Given the description of an element on the screen output the (x, y) to click on. 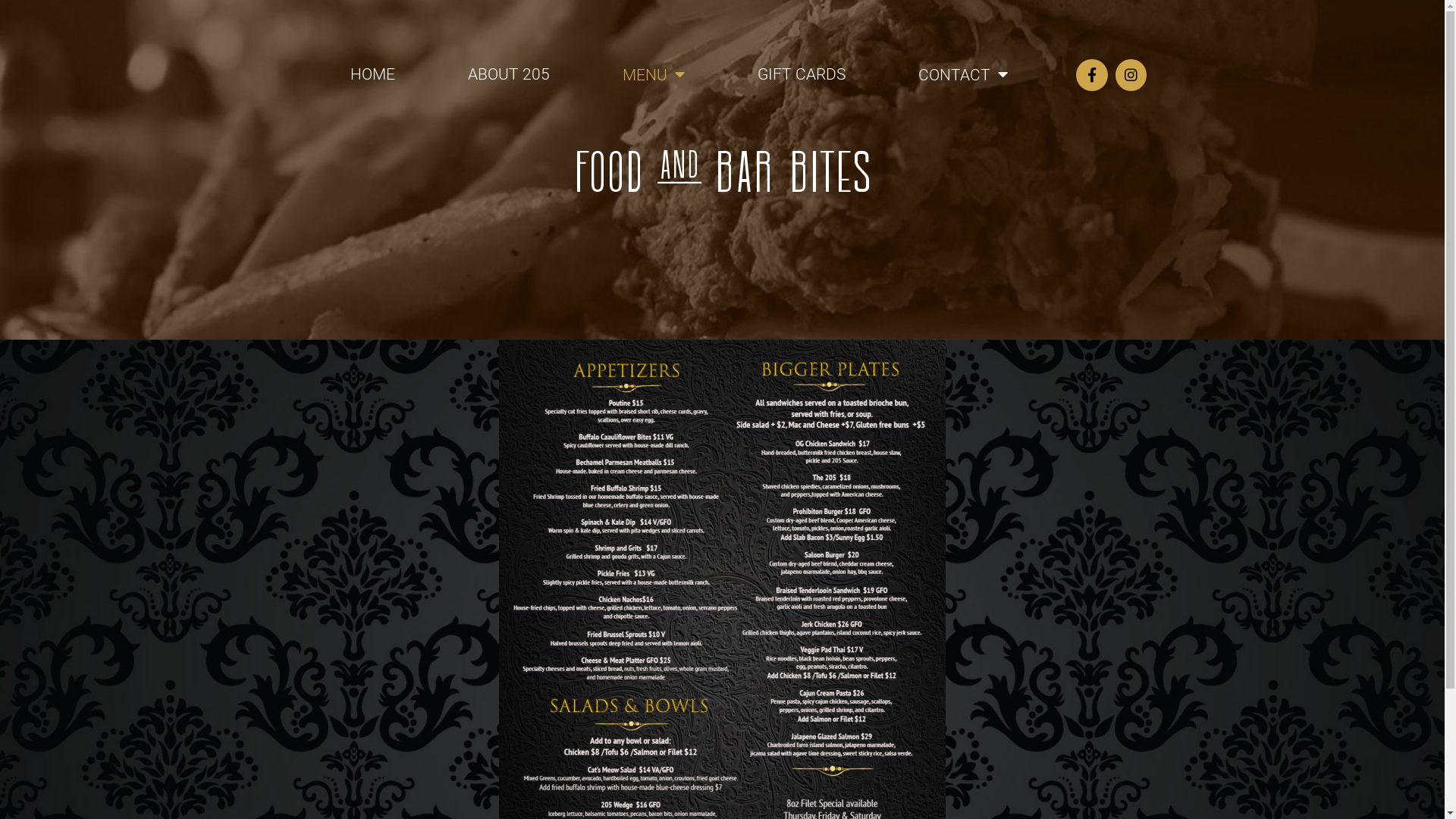
ABOUT 205 Element type: text (508, 74)
CONTACT Element type: text (962, 74)
MENU Element type: text (653, 74)
GIFT CARDS Element type: text (801, 74)
HOME Element type: text (372, 74)
